Given the description of an element on the screen output the (x, y) to click on. 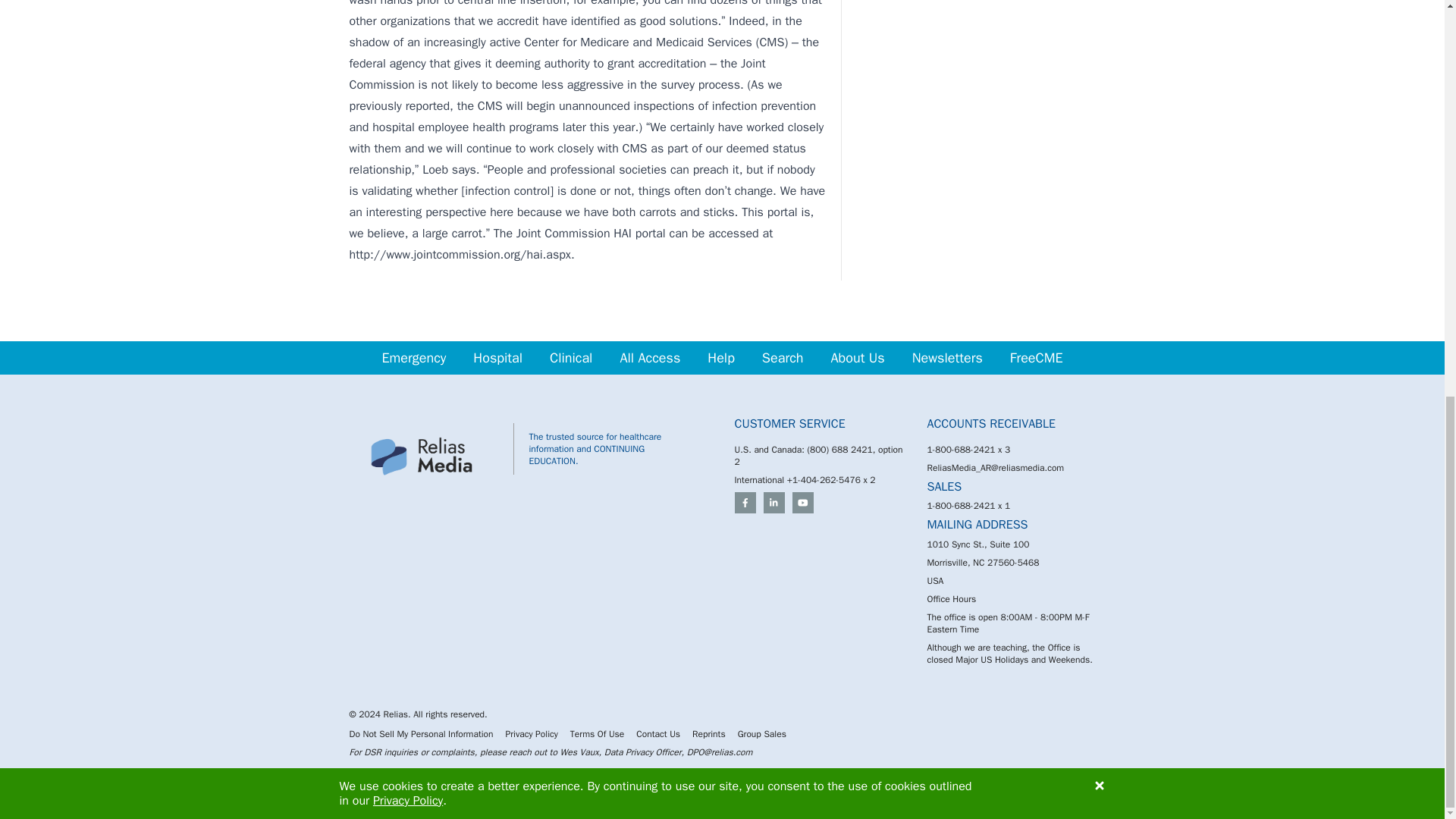
LinkedIn (773, 502)
YouTube (802, 502)
Facebook (744, 502)
